Given the description of an element on the screen output the (x, y) to click on. 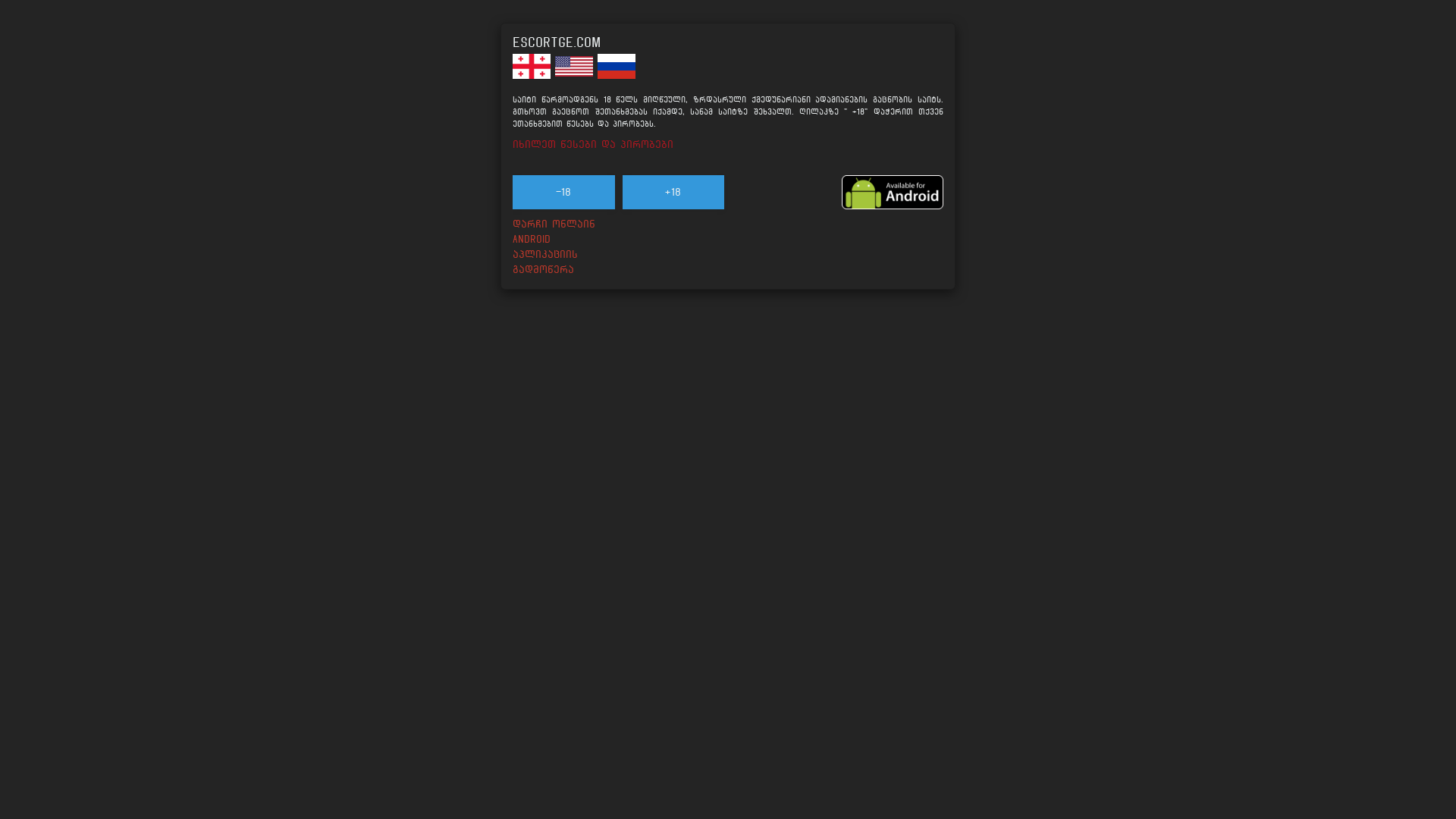
557983901 Element type: text (674, 349)
Eskort.fun Element type: text (36, 610)
555958231 Element type: text (1367, 643)
Monika Element type: text (674, 102)
nica didube Element type: hover (1228, 214)
mariami mari Element type: text (536, 689)
Eskortero Element type: text (34, 722)
Nigar Element type: text (674, 689)
+18 Element type: text (672, 192)
Eskort Batumi Element type: text (45, 700)
595029477 Element type: text (951, 643)
sabina Element type: hover (1090, 508)
sabina Element type: text (1090, 396)
557594587 Element type: text (1090, 643)
558653310 Element type: text (258, 643)
Ramira Element type: text (1228, 689)
Sopo Element type: text (1367, 396)
555145844 Element type: text (397, 349)
557711390 Element type: text (535, 349)
tatia Element type: text (951, 102)
Eskortge.co Element type: text (39, 453)
Sopo Element type: hover (1367, 508)
Elena Element type: text (396, 689)
598312713 Element type: text (258, 349)
579678383 Element type: text (1367, 349)
sofio didube Element type: text (812, 396)
EscortTbilisi.club Element type: text (55, 520)
KA Element type: text (1406, 24)
Ele Element type: text (1090, 102)
557334094 Element type: text (951, 349)
Serena tbilisi Element type: hover (1367, 214)
593560184 Element type: text (1228, 349)
Ele Element type: hover (1090, 214)
Eskort Tbilisi Element type: text (44, 677)
escort gogoebi Element type: text (47, 565)
505555927 Element type: text (813, 349)
Ero.cash Element type: text (30, 475)
593388843 Element type: text (1228, 643)
m i l e n a Element type: text (1367, 689)
tatia Element type: hover (951, 214)
557616338 Element type: text (812, 643)
dea Element type: text (1090, 689)
sofio didube Element type: hover (812, 508)
Escortge.site Element type: text (43, 430)
593782632 Element type: text (674, 643)
555133631 Element type: text (1090, 349)
Serena tbilisi Element type: text (1367, 102)
Ukrainian pussy 600gel Element type: text (258, 396)
eskort gogoebi Element type: text (47, 587)
nica didube Element type: text (1228, 102)
Escort.ge.vin Element type: text (42, 632)
511156009 Element type: text (397, 643)
Monika Element type: hover (674, 214)
Escortbatumi.site Element type: text (55, 498)
-18 Element type: text (563, 192)
Ukrainian pussy 600gel Element type: hover (258, 508)
557441236 Element type: text (535, 643)
Xgeorgia Element type: text (30, 655)
Tbilisieskort.com Element type: text (53, 543)
